Given the description of an element on the screen output the (x, y) to click on. 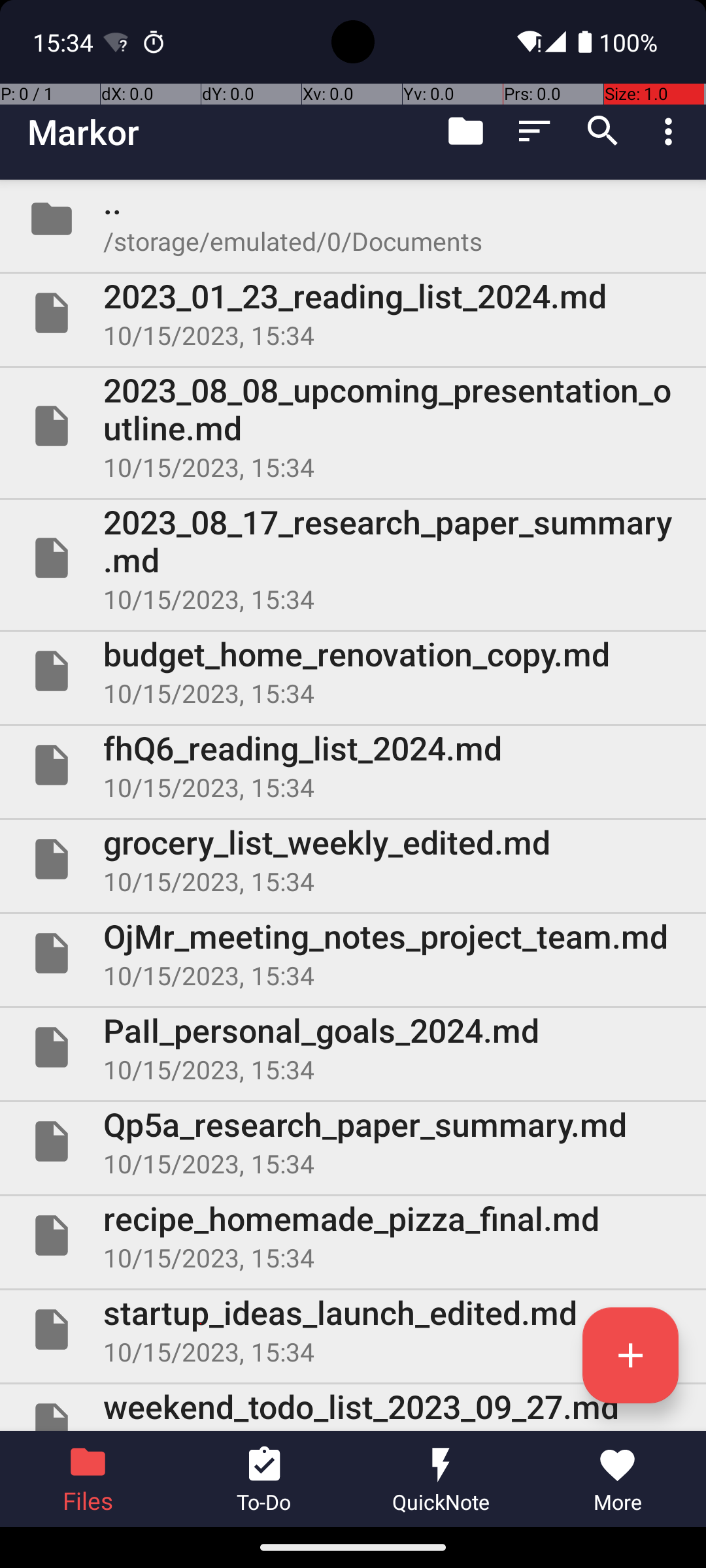
File 2023_01_23_reading_list_2024.md  Element type: android.widget.LinearLayout (353, 312)
File 2023_08_08_upcoming_presentation_outline.md  Element type: android.widget.LinearLayout (353, 425)
File 2023_08_17_research_paper_summary.md  Element type: android.widget.LinearLayout (353, 557)
File budget_home_renovation_copy.md  Element type: android.widget.LinearLayout (353, 670)
File fhQ6_reading_list_2024.md  Element type: android.widget.LinearLayout (353, 764)
File grocery_list_weekly_edited.md  Element type: android.widget.LinearLayout (353, 858)
File OjMr_meeting_notes_project_team.md  Element type: android.widget.LinearLayout (353, 953)
File PaIl_personal_goals_2024.md  Element type: android.widget.LinearLayout (353, 1047)
File Qp5a_research_paper_summary.md  Element type: android.widget.LinearLayout (353, 1141)
File recipe_homemade_pizza_final.md  Element type: android.widget.LinearLayout (353, 1235)
File startup_ideas_launch_edited.md  Element type: android.widget.LinearLayout (353, 1329)
File weekend_todo_list_2023_09_27.md  Element type: android.widget.LinearLayout (353, 1407)
Android System notification: AndroidWifi has no internet access Element type: android.widget.ImageView (115, 41)
